Given the description of an element on the screen output the (x, y) to click on. 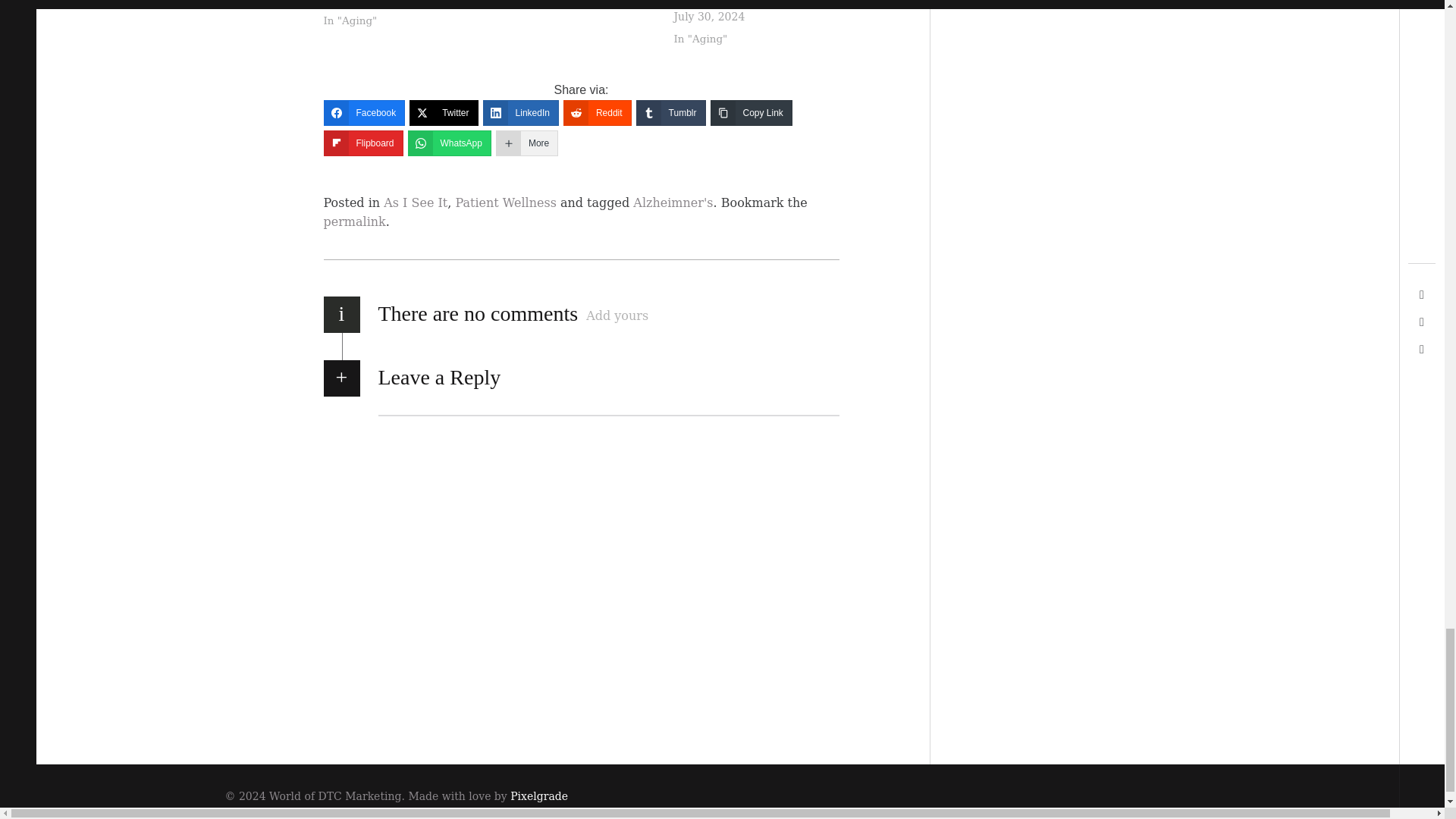
Add yours (616, 315)
Facebook (363, 112)
Flipboard (363, 143)
Copy Link (751, 112)
As I See It (415, 202)
Twitter (443, 112)
WhatsApp (449, 143)
permalink (354, 221)
Patient Wellness (505, 202)
Alzheimner's (673, 202)
More (526, 143)
LinkedIn (521, 112)
Tumblr (671, 112)
Reddit (597, 112)
